Given the description of an element on the screen output the (x, y) to click on. 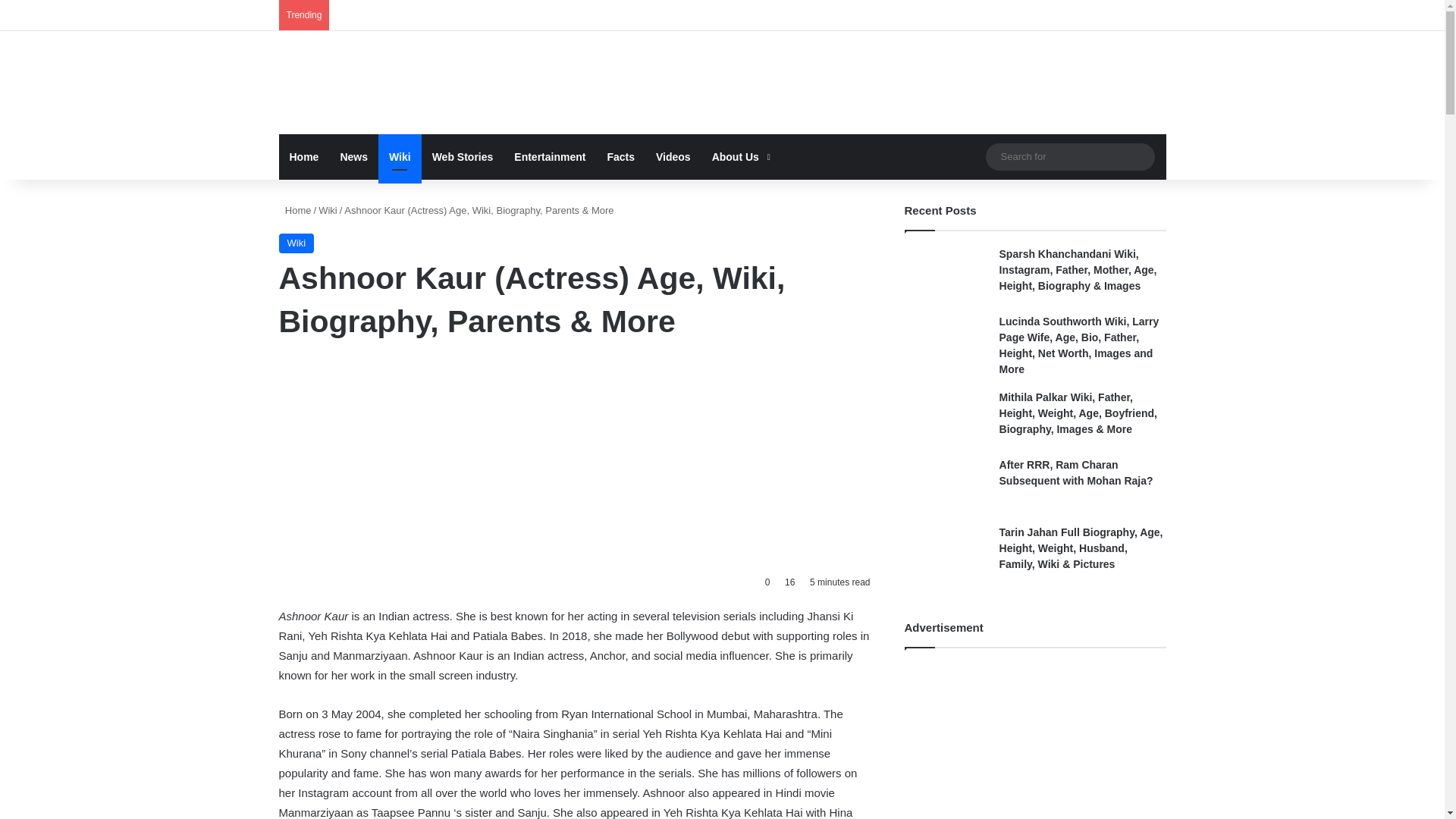
Facts (620, 156)
Entertainment (549, 156)
Home (304, 156)
News (353, 156)
About Us (739, 156)
Search for (1069, 156)
Videos (673, 156)
Web Stories (462, 156)
Search for (1139, 156)
Wiki (296, 243)
